Given the description of an element on the screen output the (x, y) to click on. 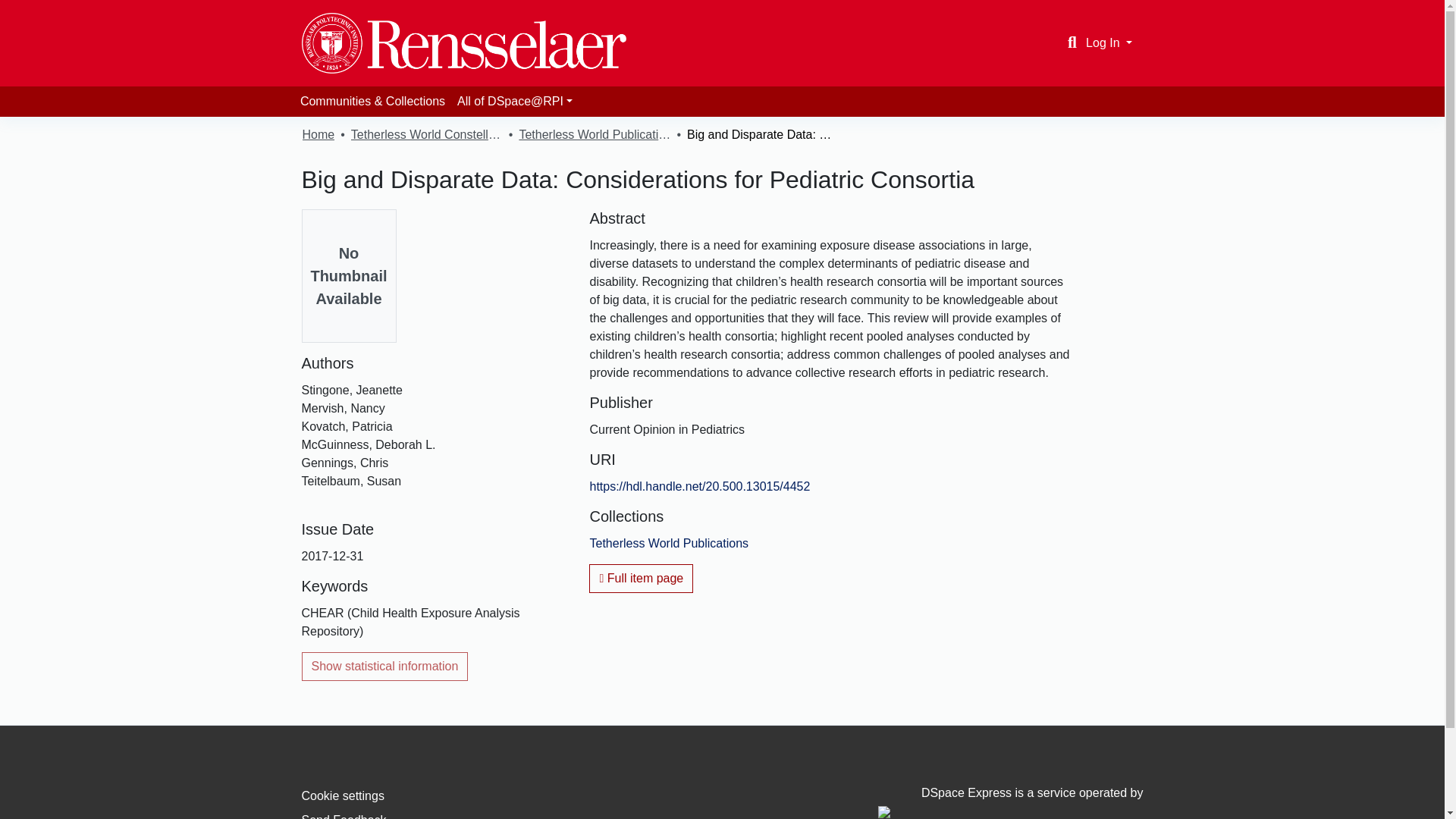
Tetherless World Publications (593, 135)
Cookie settings (342, 795)
Home (317, 135)
Search (1072, 43)
Send Feedback (344, 816)
DSpace Express is a service operated by (1009, 802)
Full item page (641, 578)
Show statistical information (384, 665)
Tetherless World Constellation (426, 135)
Log In (1108, 42)
Tetherless World Publications (668, 543)
